Given the description of an element on the screen output the (x, y) to click on. 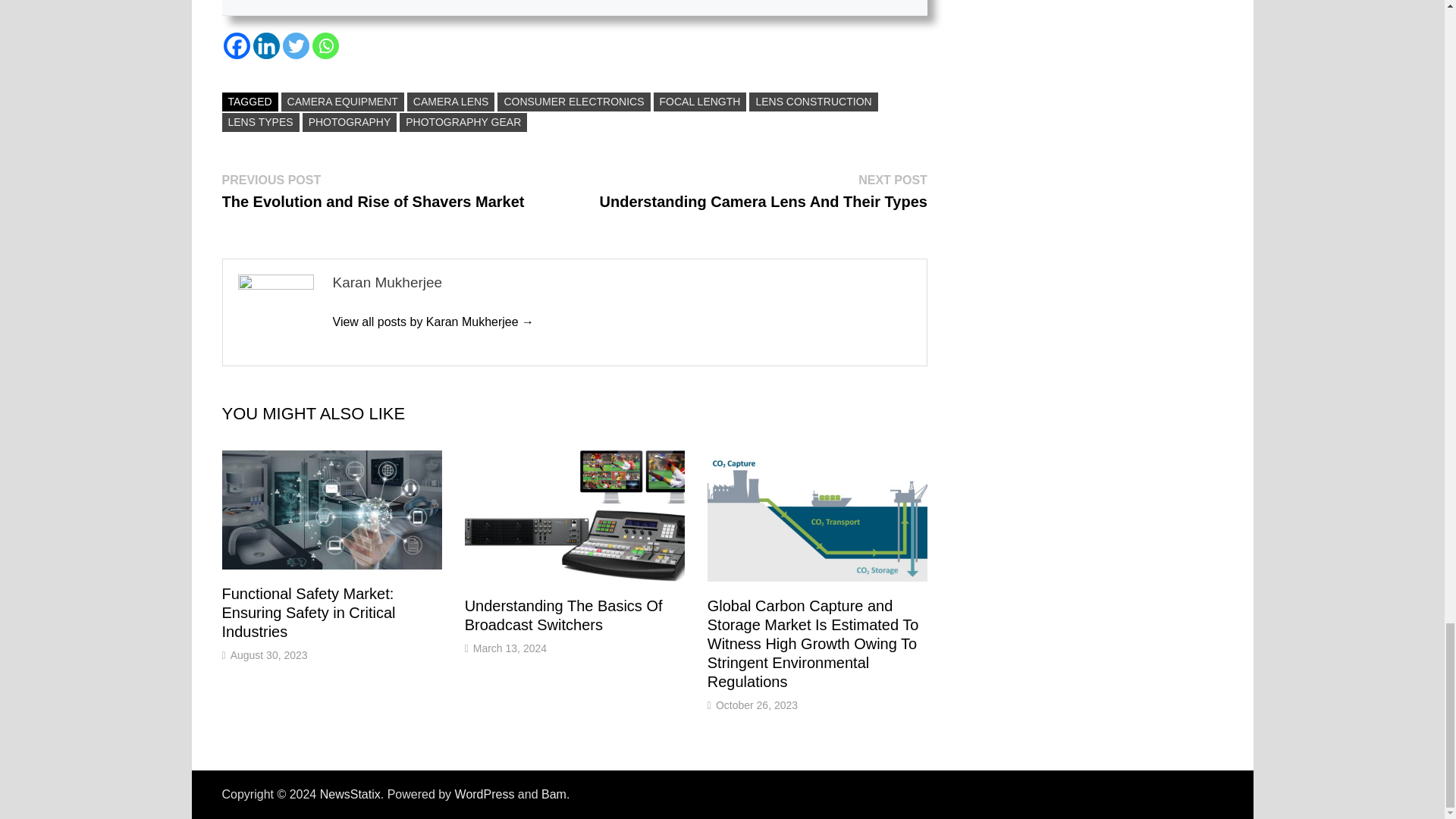
Facebook (235, 45)
Understanding The Basics Of Broadcast Switchers (563, 615)
Whatsapp (326, 45)
Linkedin (266, 45)
NewsStatix (350, 793)
Karan Mukherjee (432, 321)
Twitter (295, 45)
